Given the description of an element on the screen output the (x, y) to click on. 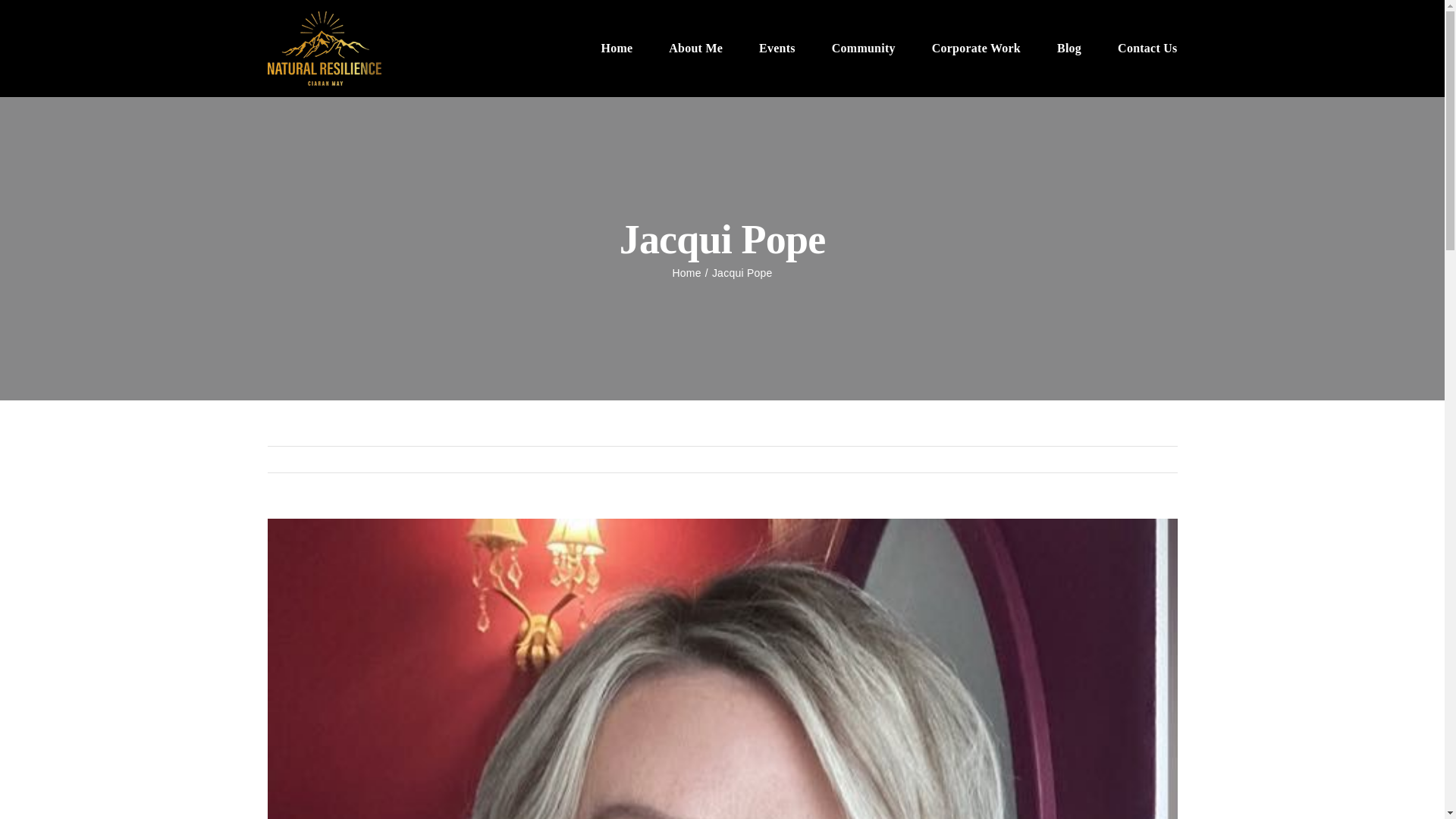
Home (685, 272)
Previous (1099, 459)
Next (1153, 459)
Corporate Work (975, 48)
